Given the description of an element on the screen output the (x, y) to click on. 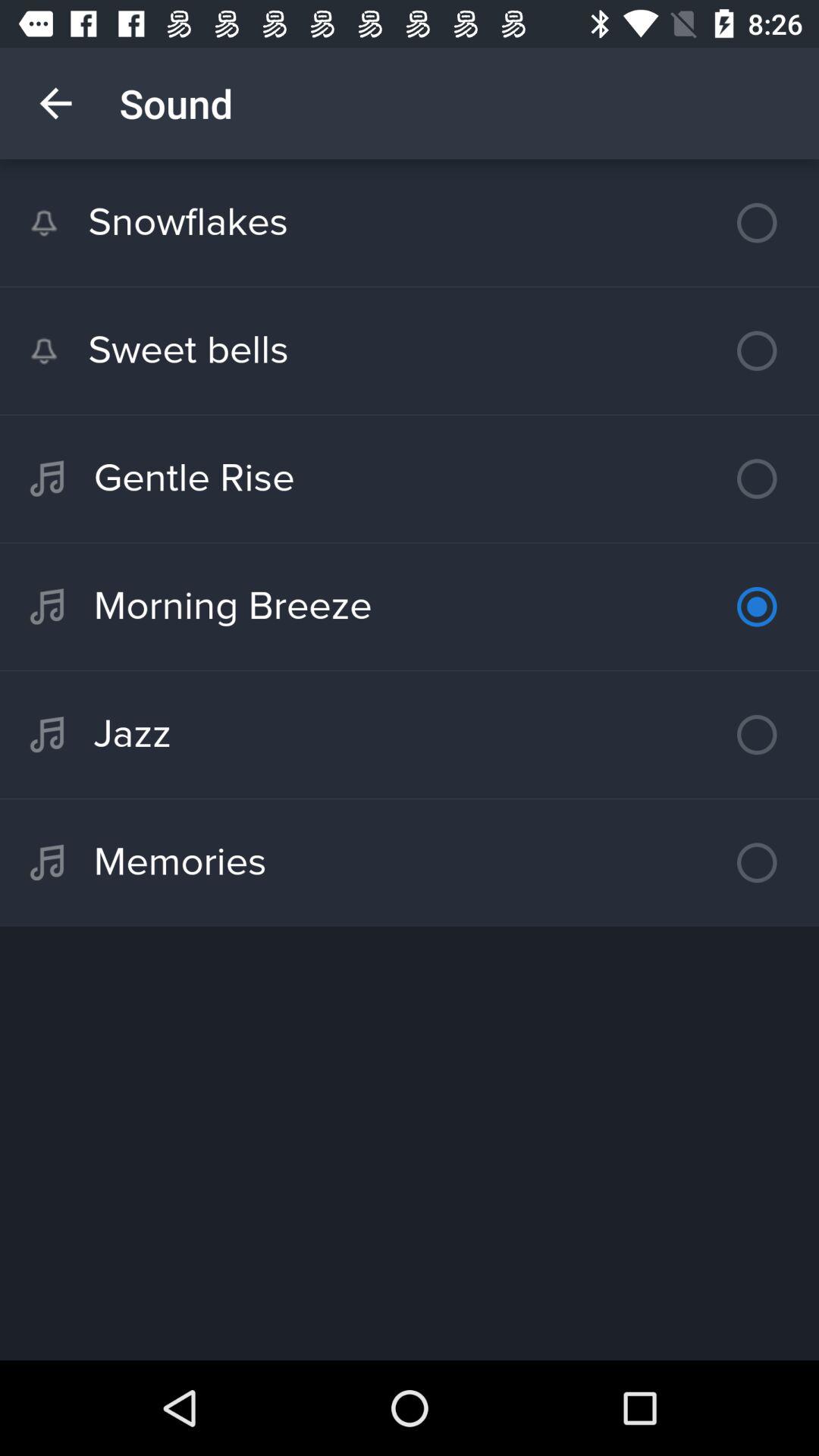
open the icon to the left of sound item (55, 103)
